Given the description of an element on the screen output the (x, y) to click on. 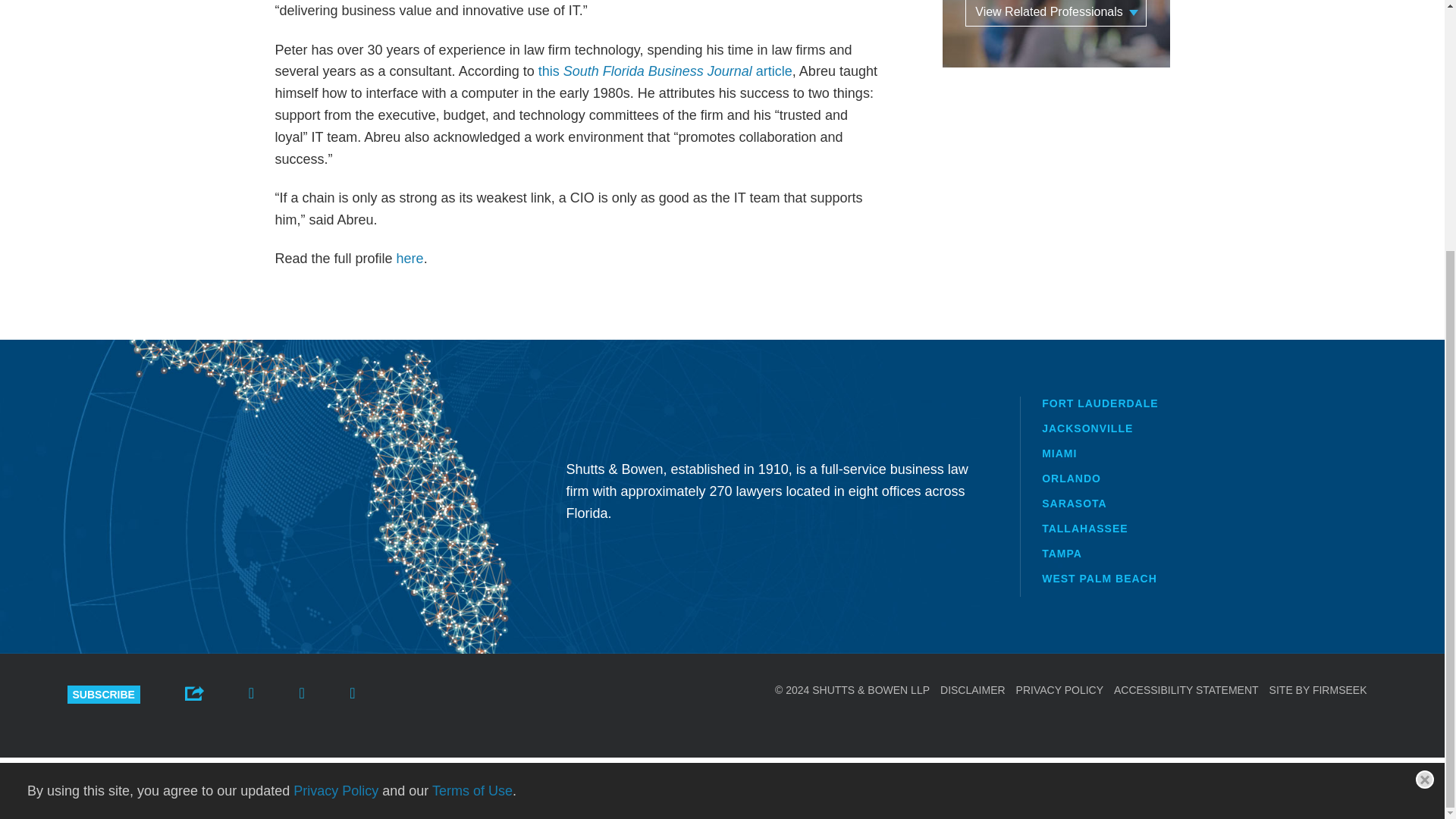
Share (193, 692)
